Given the description of an element on the screen output the (x, y) to click on. 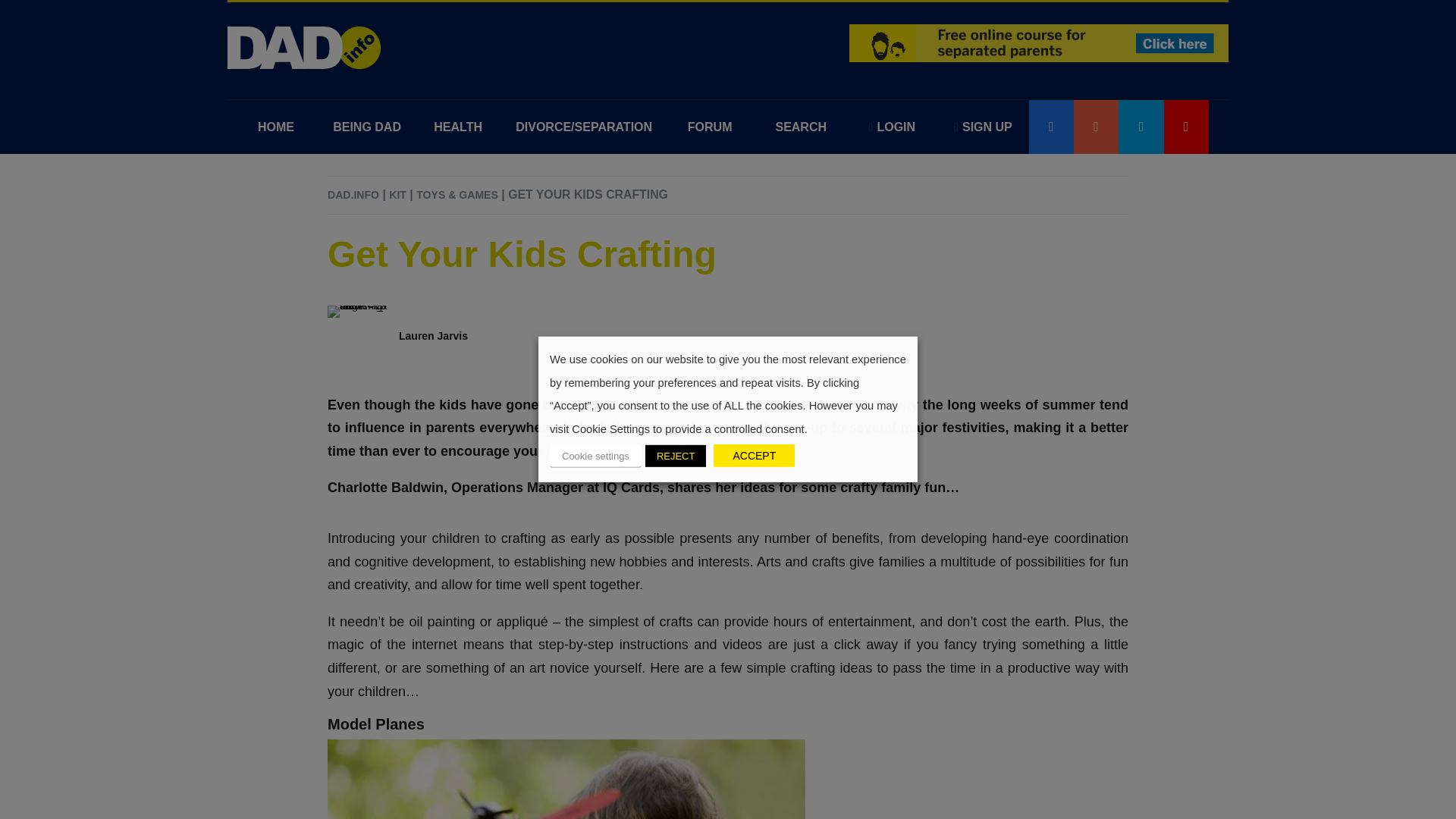
DAD.info (304, 47)
SIGN UP (982, 126)
FORUM (709, 126)
BEING DAD (366, 126)
SEARCH (800, 126)
LOGIN (891, 126)
HEALTH (457, 126)
HOME (275, 126)
